Given the description of an element on the screen output the (x, y) to click on. 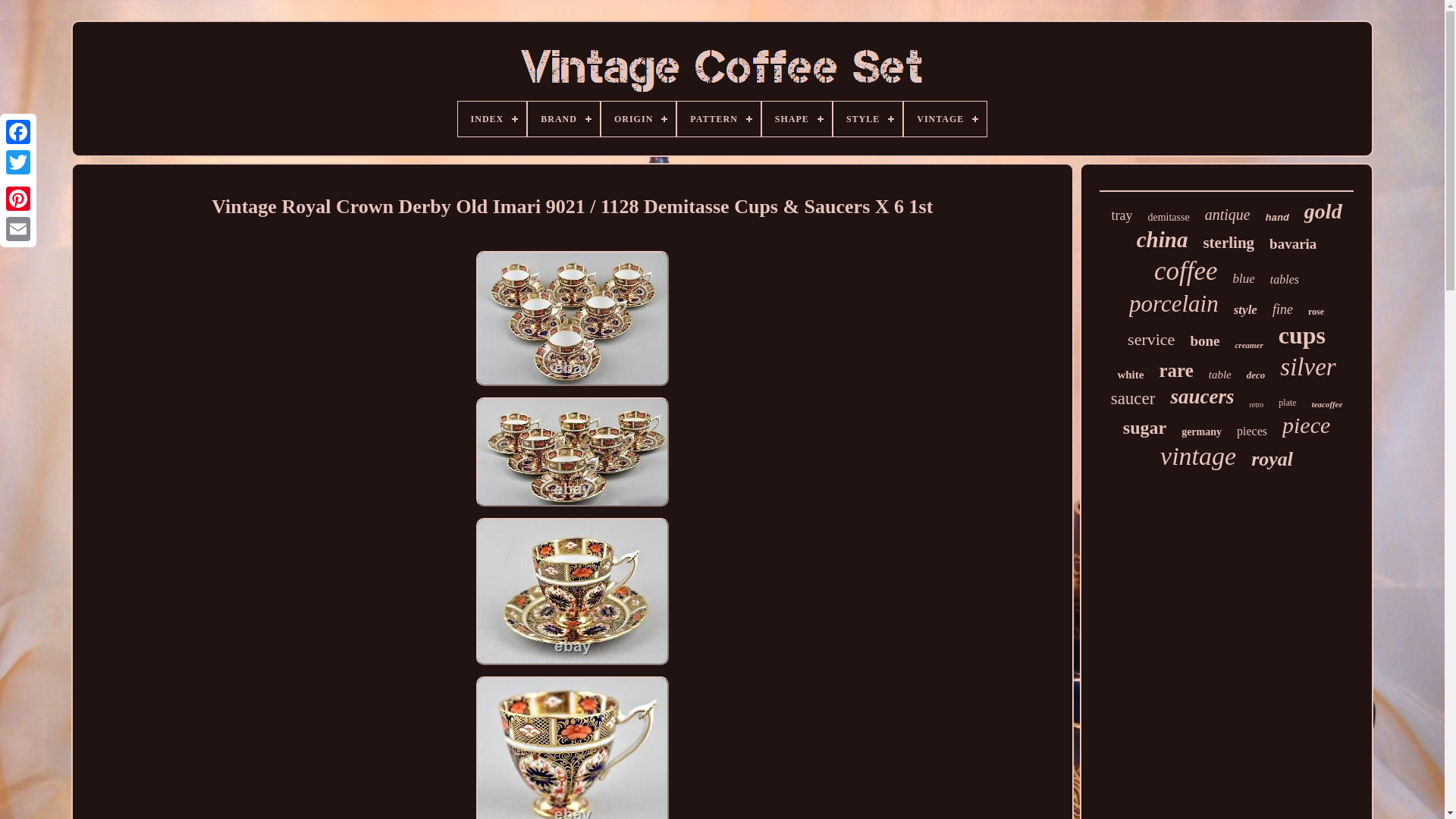
INDEX (492, 118)
BRAND (563, 118)
ORIGIN (638, 118)
